Given the description of an element on the screen output the (x, y) to click on. 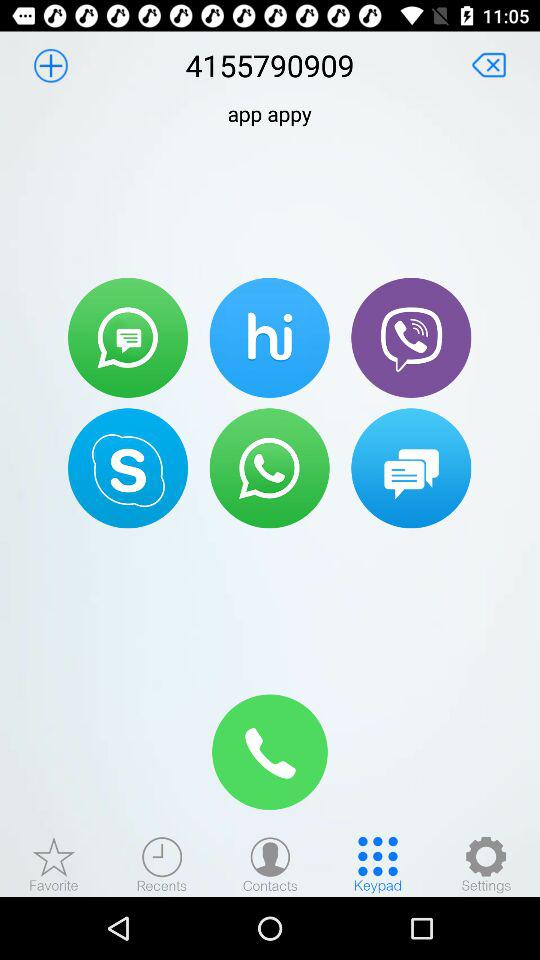
close screen (489, 65)
